Given the description of an element on the screen output the (x, y) to click on. 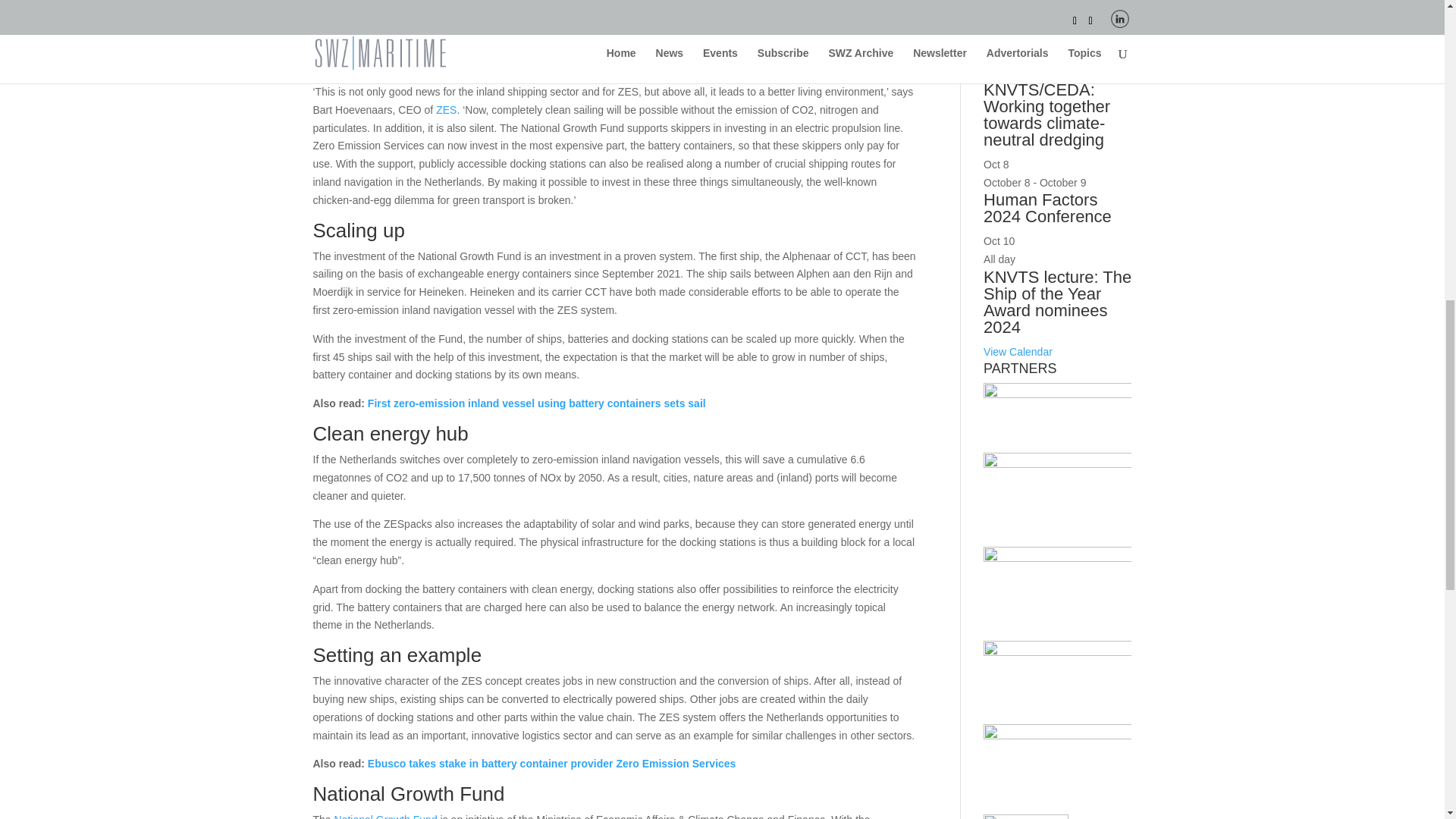
National Growth Fund (386, 816)
Human Factors 2024 Conference (1048, 208)
View Calendar (1018, 351)
KNVTS lecture: The Ship of the Year Award nominees 2024 (1057, 301)
KNVTS lecture: The Ship of the Year Award nominees 2024 (1057, 301)
ZES (446, 110)
View more events. (1018, 351)
